Given the description of an element on the screen output the (x, y) to click on. 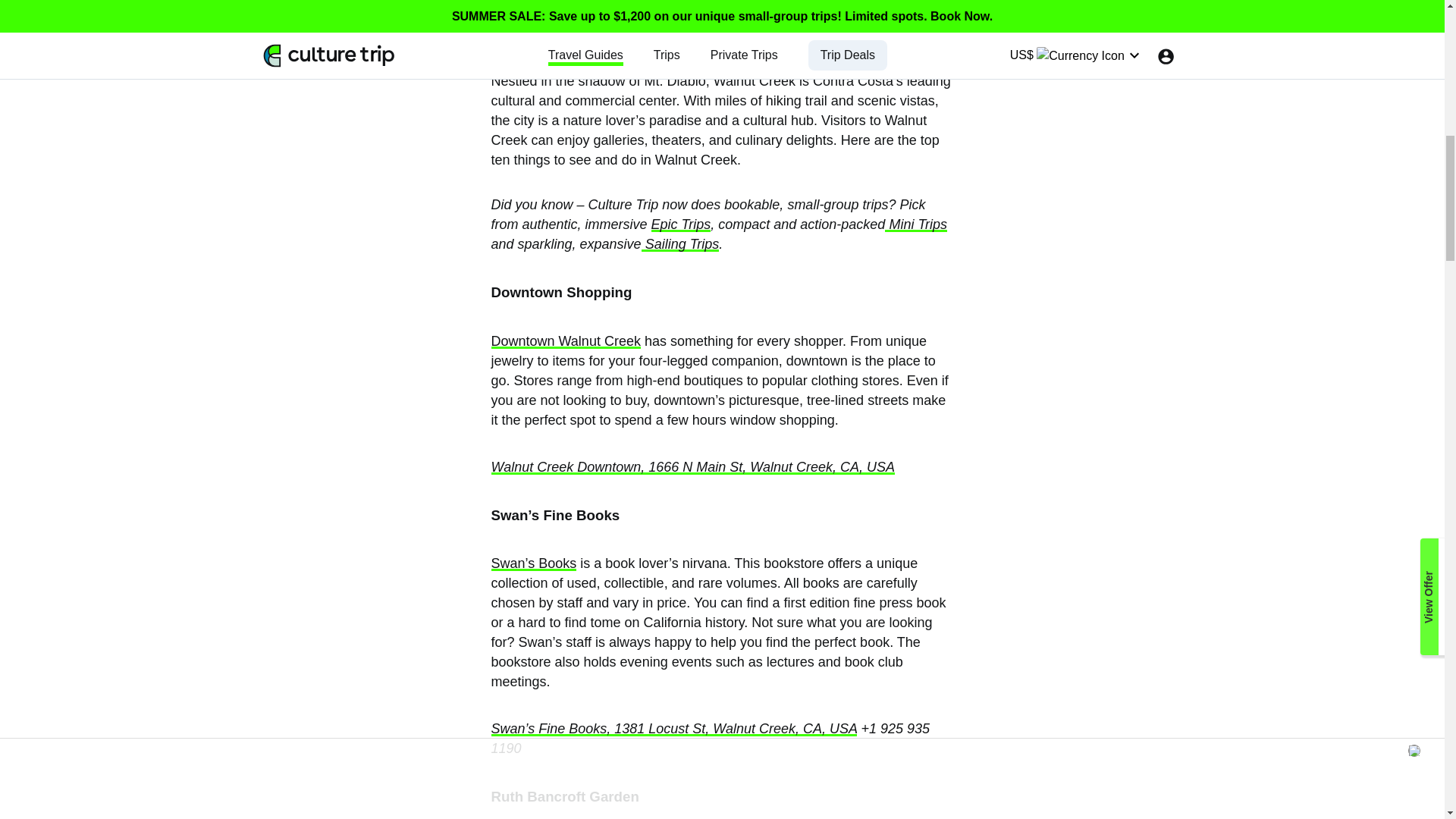
Epic Trips (680, 224)
Mini Trips (916, 224)
Walnut Creek Downtown, 1666 N Main St, Walnut Creek, CA, USA (693, 467)
09 February 2017 (367, 40)
Sailing Trips (680, 243)
Downtown Walnut Creek (566, 340)
